Given the description of an element on the screen output the (x, y) to click on. 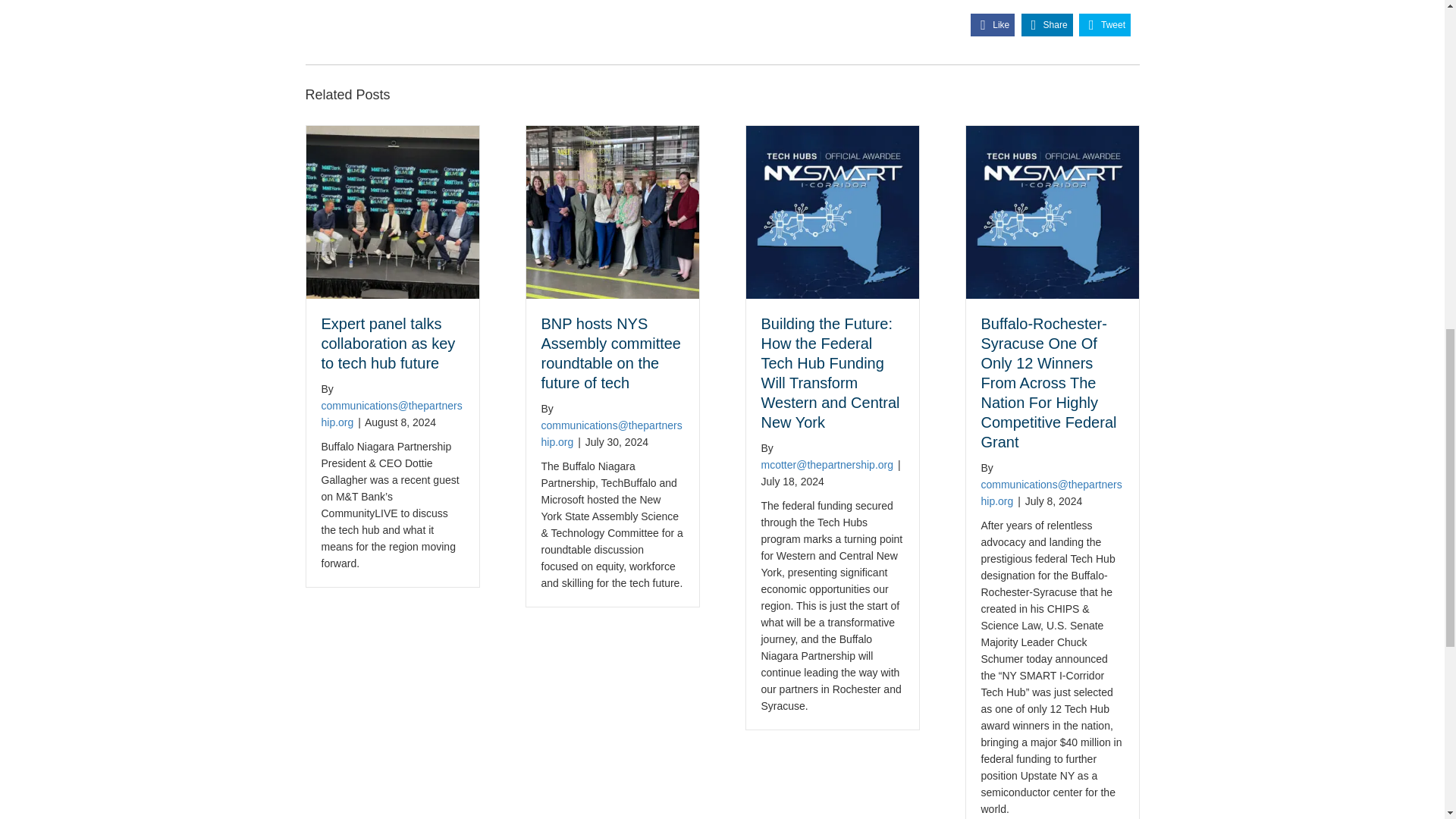
Expert panel talks collaboration as key to tech hub future (392, 211)
Expert panel talks collaboration as key to tech hub future (388, 343)
